Given the description of an element on the screen output the (x, y) to click on. 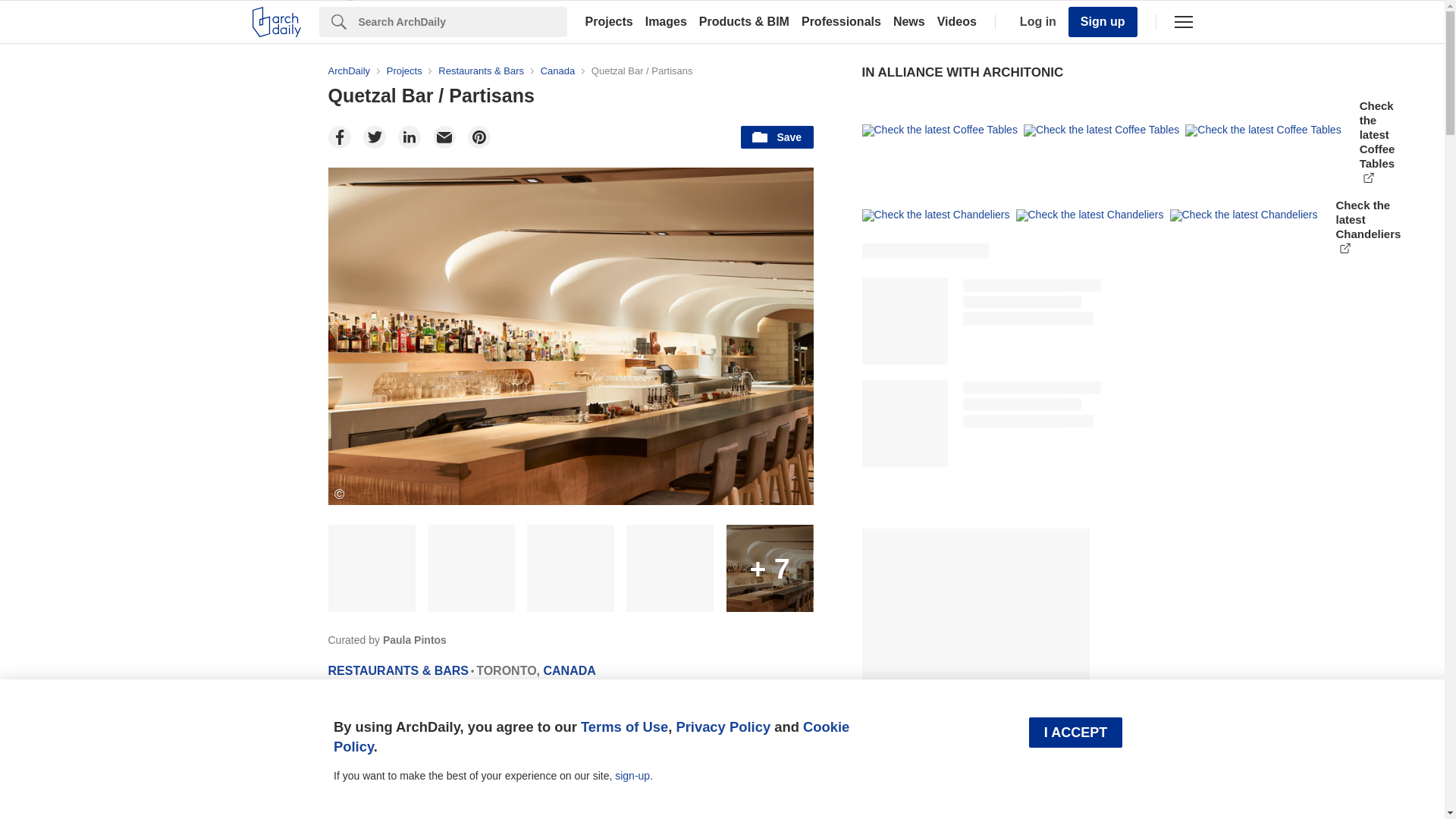
Videos (956, 21)
Sign up (1102, 21)
Projects (609, 21)
Images (666, 21)
Log in (1035, 21)
Professionals (840, 21)
News (908, 21)
